Given the description of an element on the screen output the (x, y) to click on. 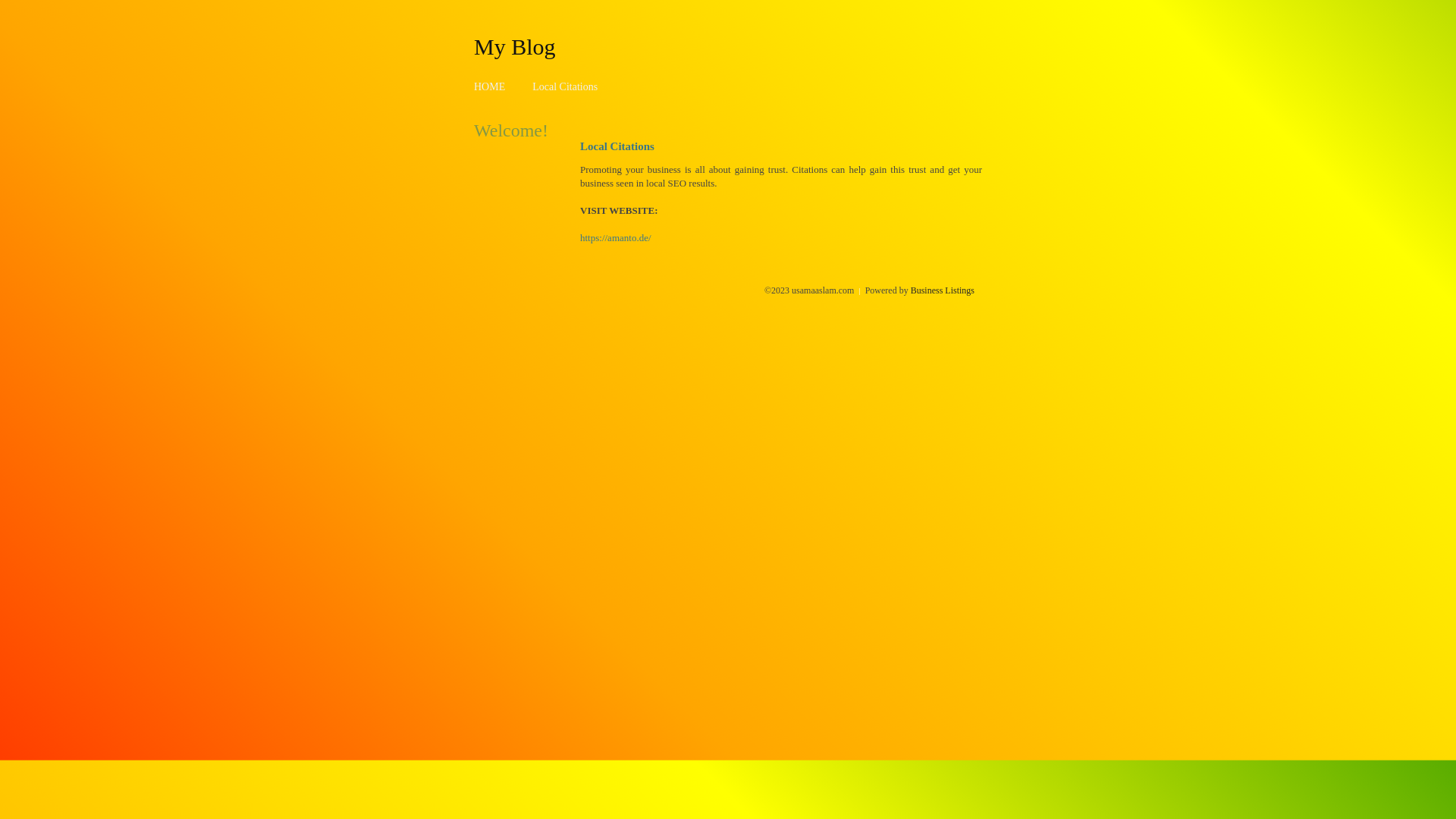
My Blog Element type: text (514, 46)
HOME Element type: text (489, 86)
https://amanto.de/ Element type: text (615, 237)
Local Citations Element type: text (564, 86)
Business Listings Element type: text (942, 290)
